Given the description of an element on the screen output the (x, y) to click on. 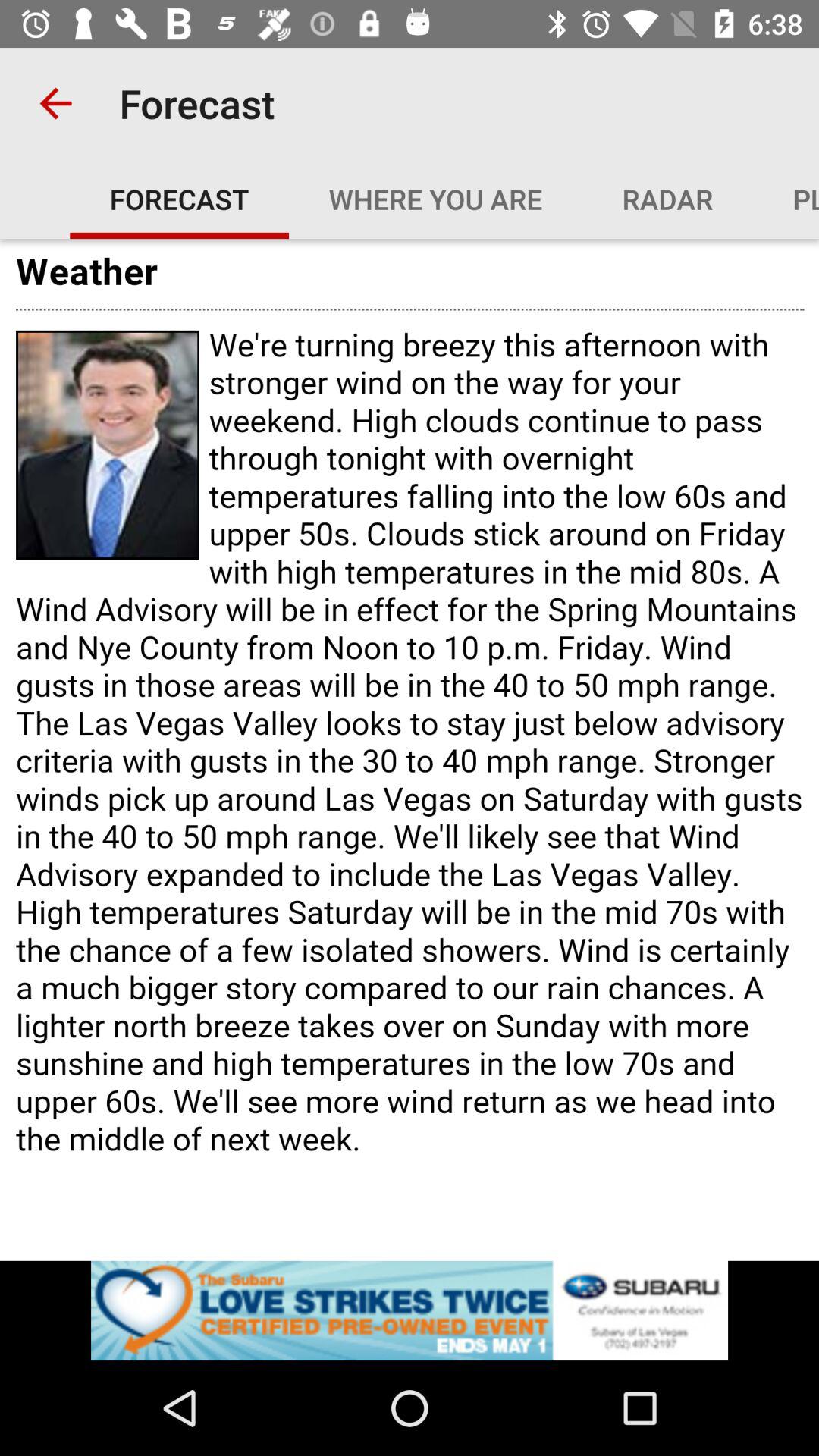
see this advertising (409, 1310)
